Given the description of an element on the screen output the (x, y) to click on. 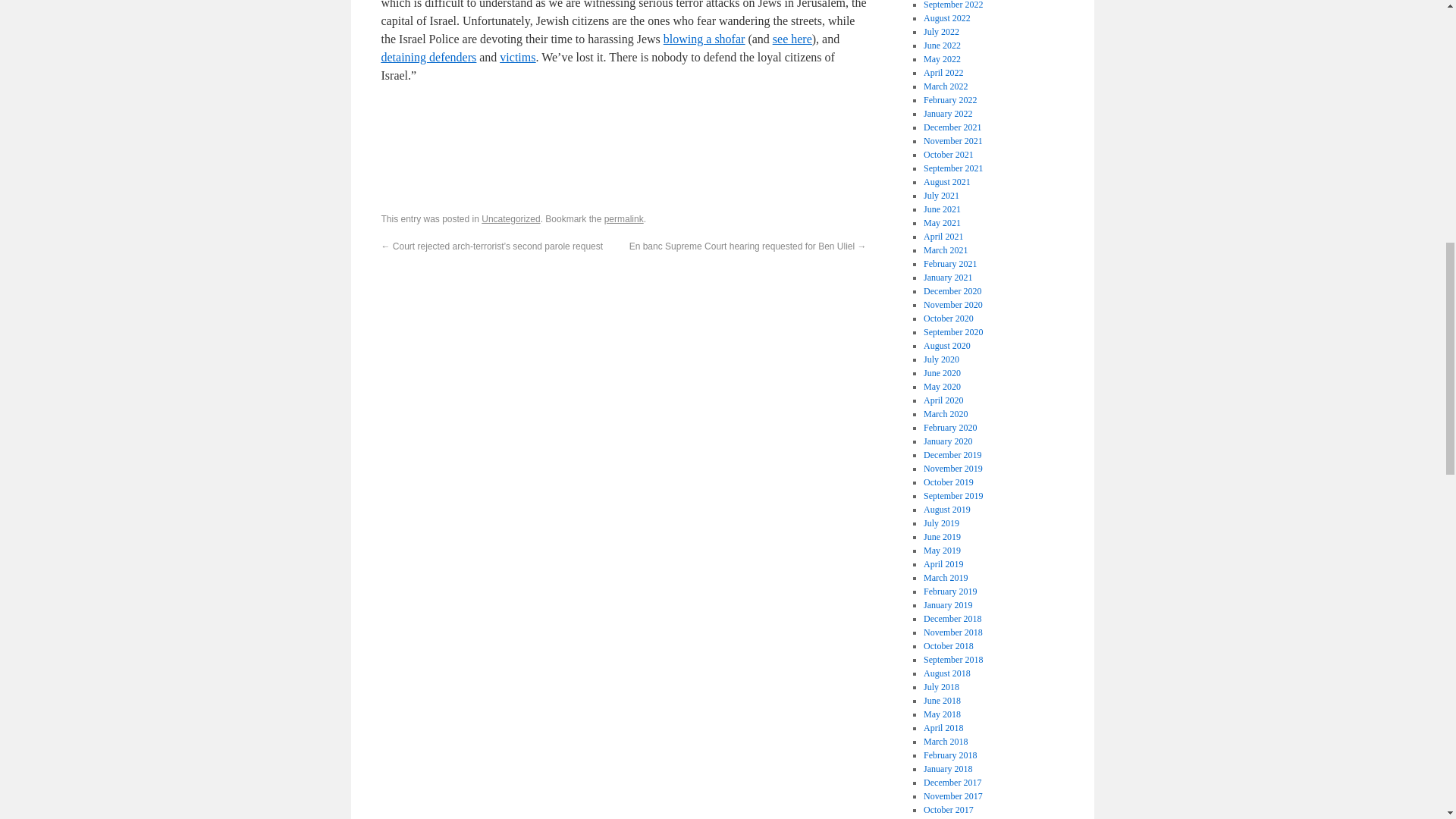
Permalink to Defenders of home in Shimon HaTzadik detained (623, 218)
